Given the description of an element on the screen output the (x, y) to click on. 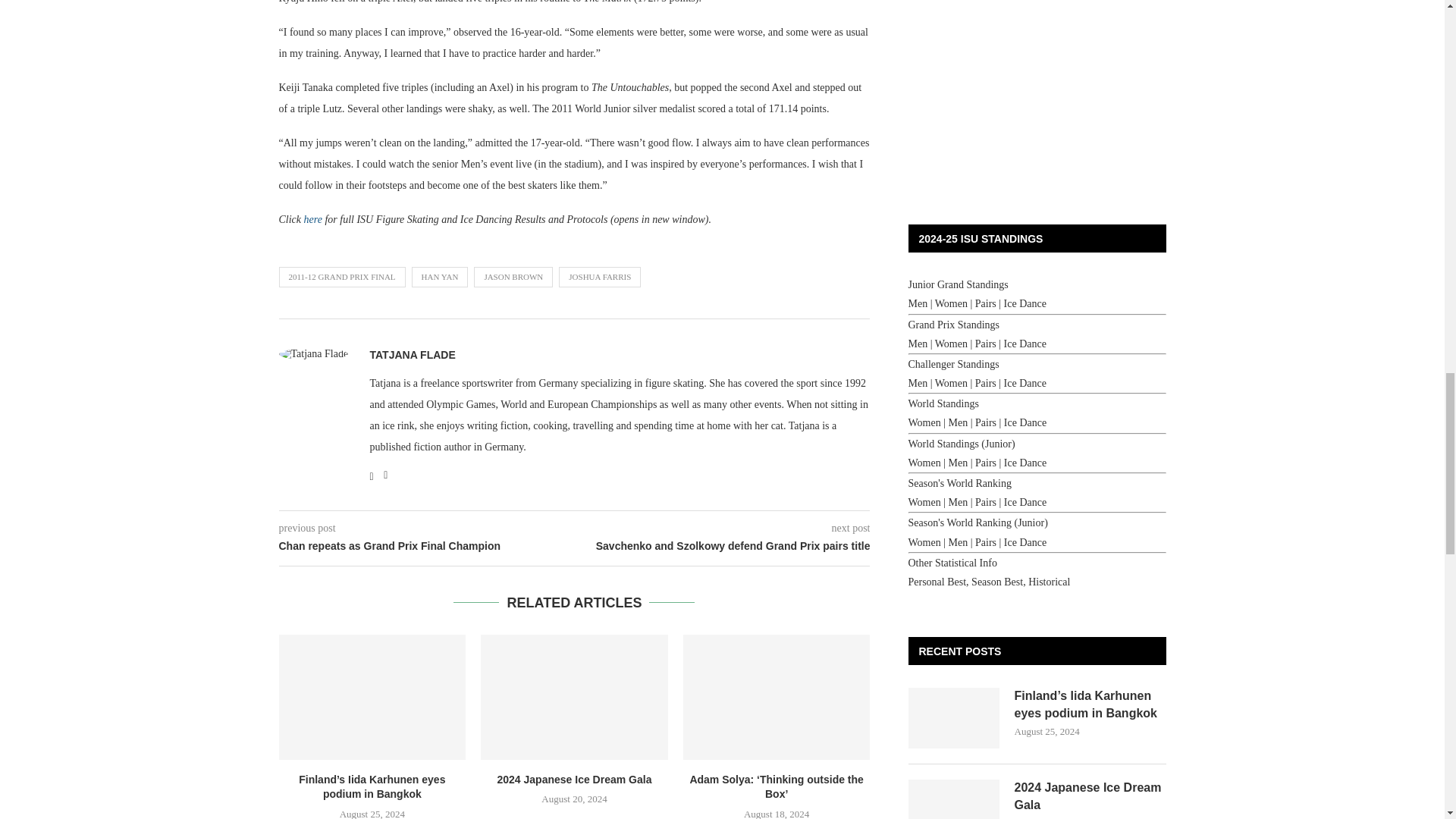
2011-12 Grand Prix Final of Figure Skating results (312, 219)
2024 Japanese Ice Dream Gala (574, 696)
Author Tatjana Flade (412, 355)
